Given the description of an element on the screen output the (x, y) to click on. 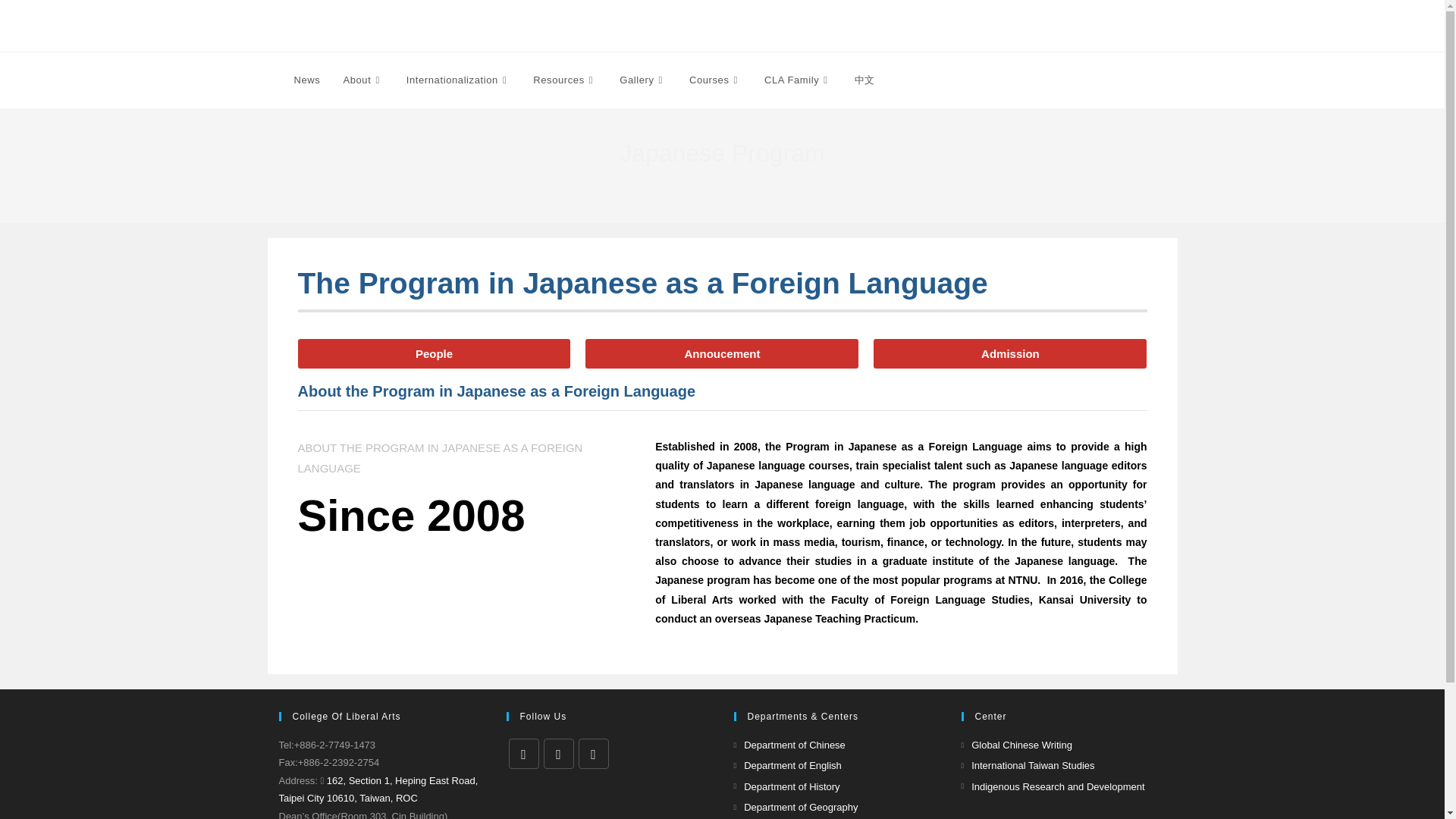
Gallery (643, 80)
Internationalization (458, 80)
Courses (715, 80)
About (362, 80)
Resources (564, 80)
